Given the description of an element on the screen output the (x, y) to click on. 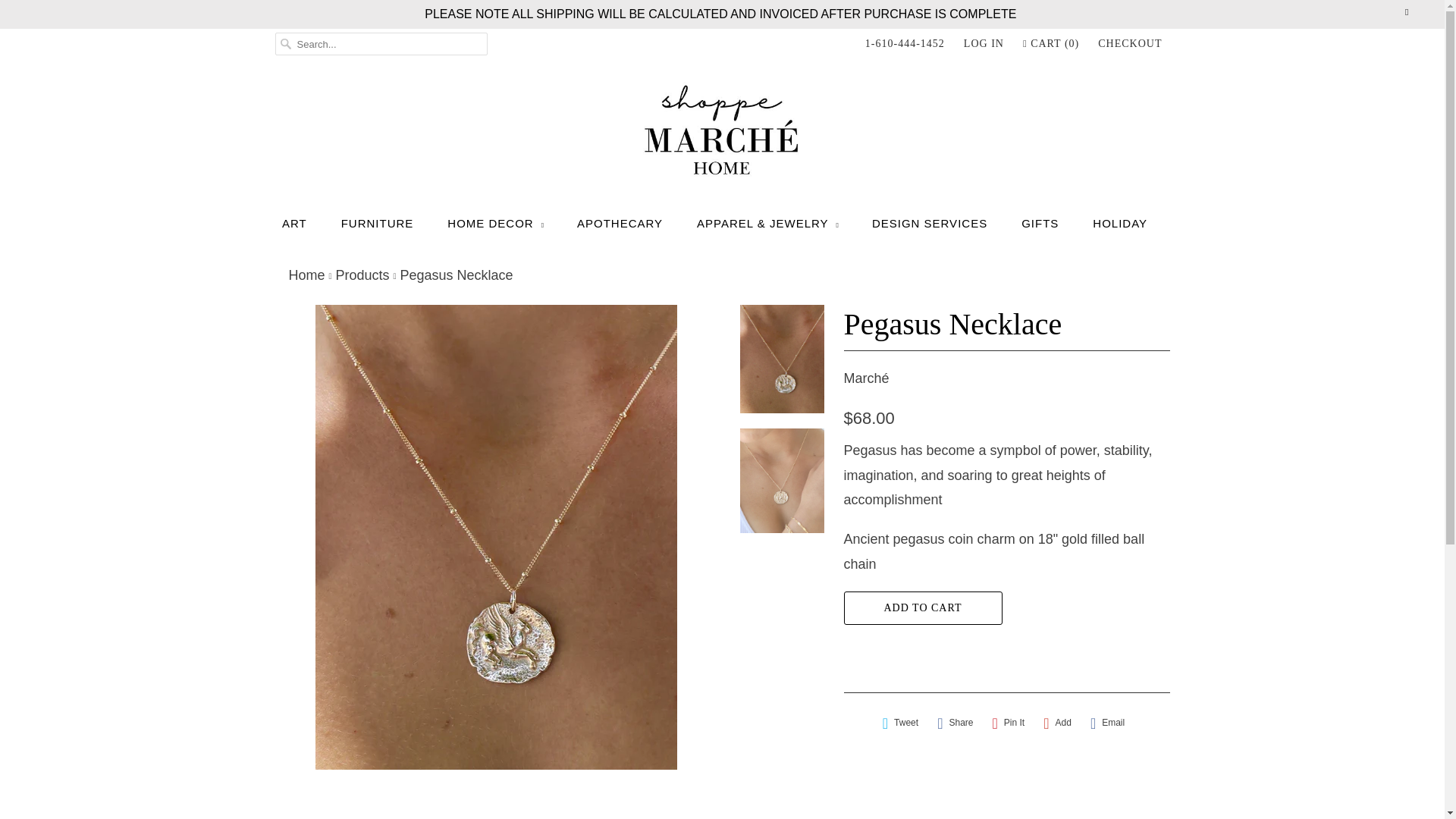
Share this on Facebook (954, 722)
Share this on Twitter (900, 722)
LOG IN (983, 43)
1-610-444-1452 (904, 43)
CHECKOUT (1129, 43)
Email this to a friend (1107, 722)
GIFTS (1040, 223)
Products (361, 274)
ART (294, 223)
